Given the description of an element on the screen output the (x, y) to click on. 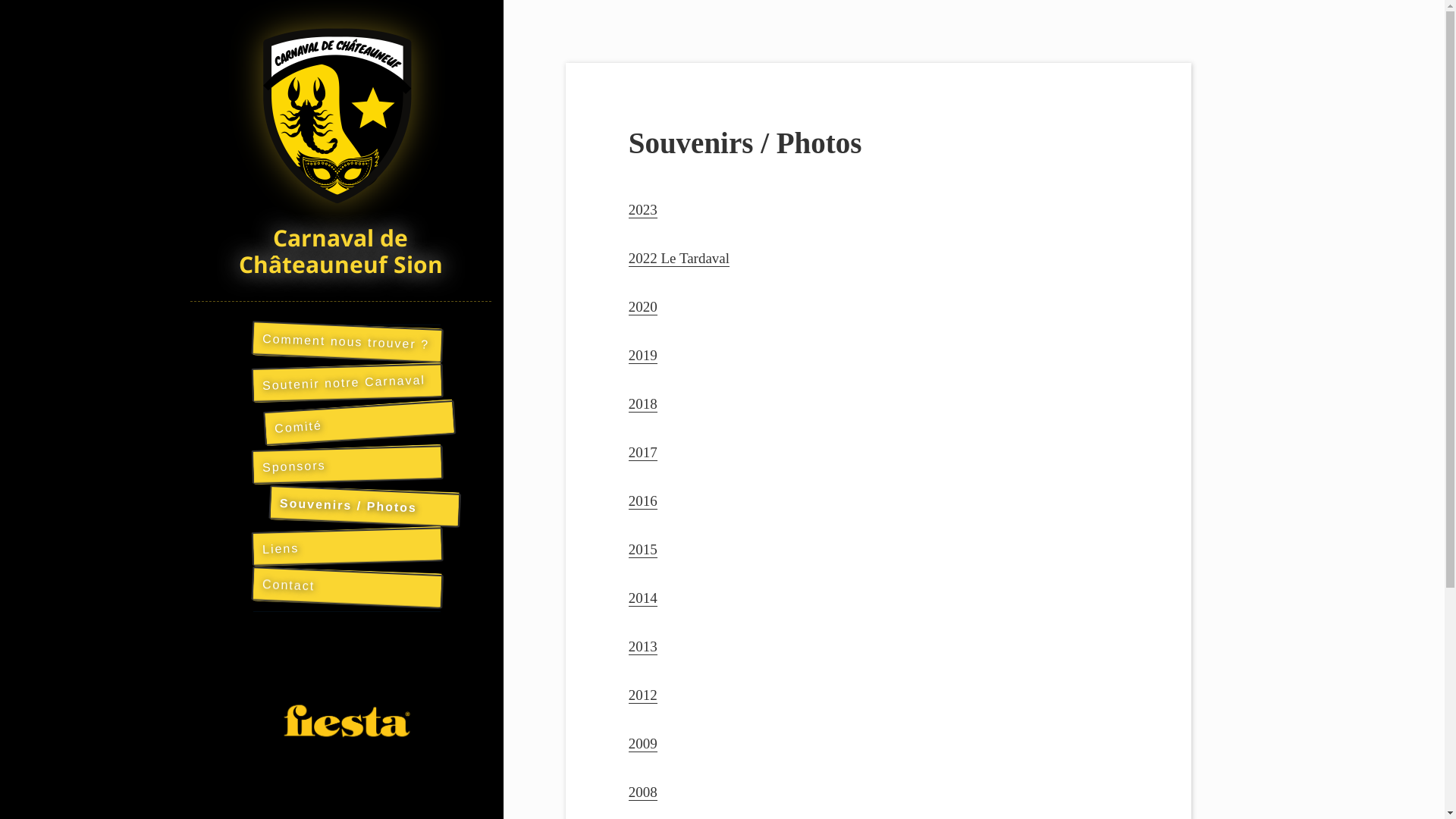
Contact Element type: text (346, 584)
2009 Element type: text (642, 743)
2022 Le Tardaval Element type: text (678, 258)
Comment nous trouver ? Element type: text (346, 338)
Souvenirs / Photos Element type: text (363, 503)
2014 Element type: text (642, 597)
2008 Element type: text (642, 792)
2020 Element type: text (642, 306)
2018 Element type: text (642, 403)
2015 Element type: text (642, 549)
Sponsors Element type: text (346, 461)
2017 Element type: text (642, 452)
2016 Element type: text (642, 500)
2019 Element type: text (642, 355)
Liens Element type: text (346, 543)
2013 Element type: text (642, 646)
2012 Element type: text (642, 695)
Soutenir notre Carnaval Element type: text (346, 379)
2023 Element type: text (642, 209)
